Given the description of an element on the screen output the (x, y) to click on. 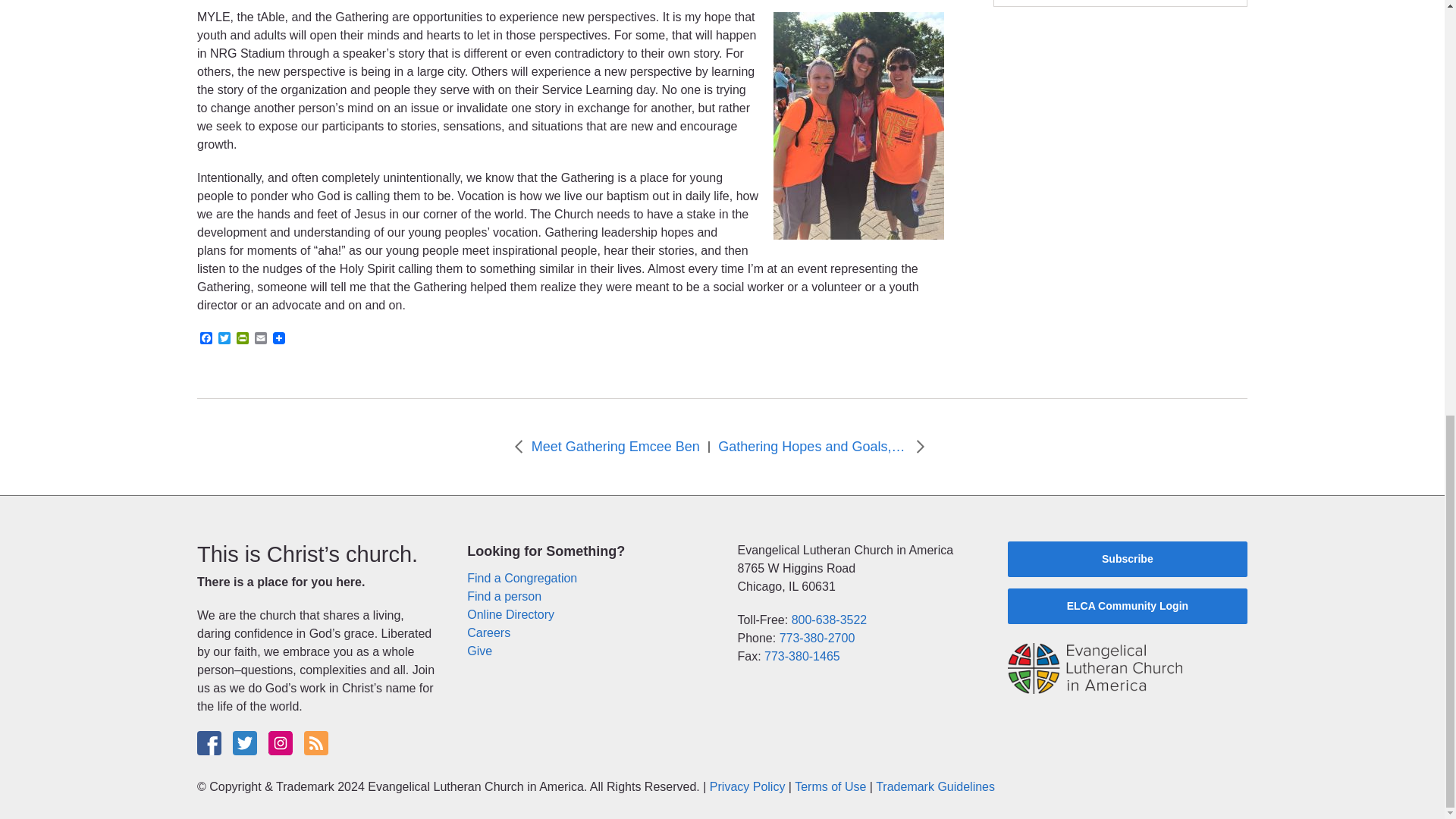
Twitter (223, 339)
Gathering Hopes and Goals, Part II (812, 446)
PrintFriendly (241, 339)
Twitter (223, 339)
Facebook (205, 339)
Email (260, 339)
PrintFriendly (241, 339)
Email (260, 339)
Facebook (205, 339)
Meet Gathering Emcee Ben (615, 446)
